Given the description of an element on the screen output the (x, y) to click on. 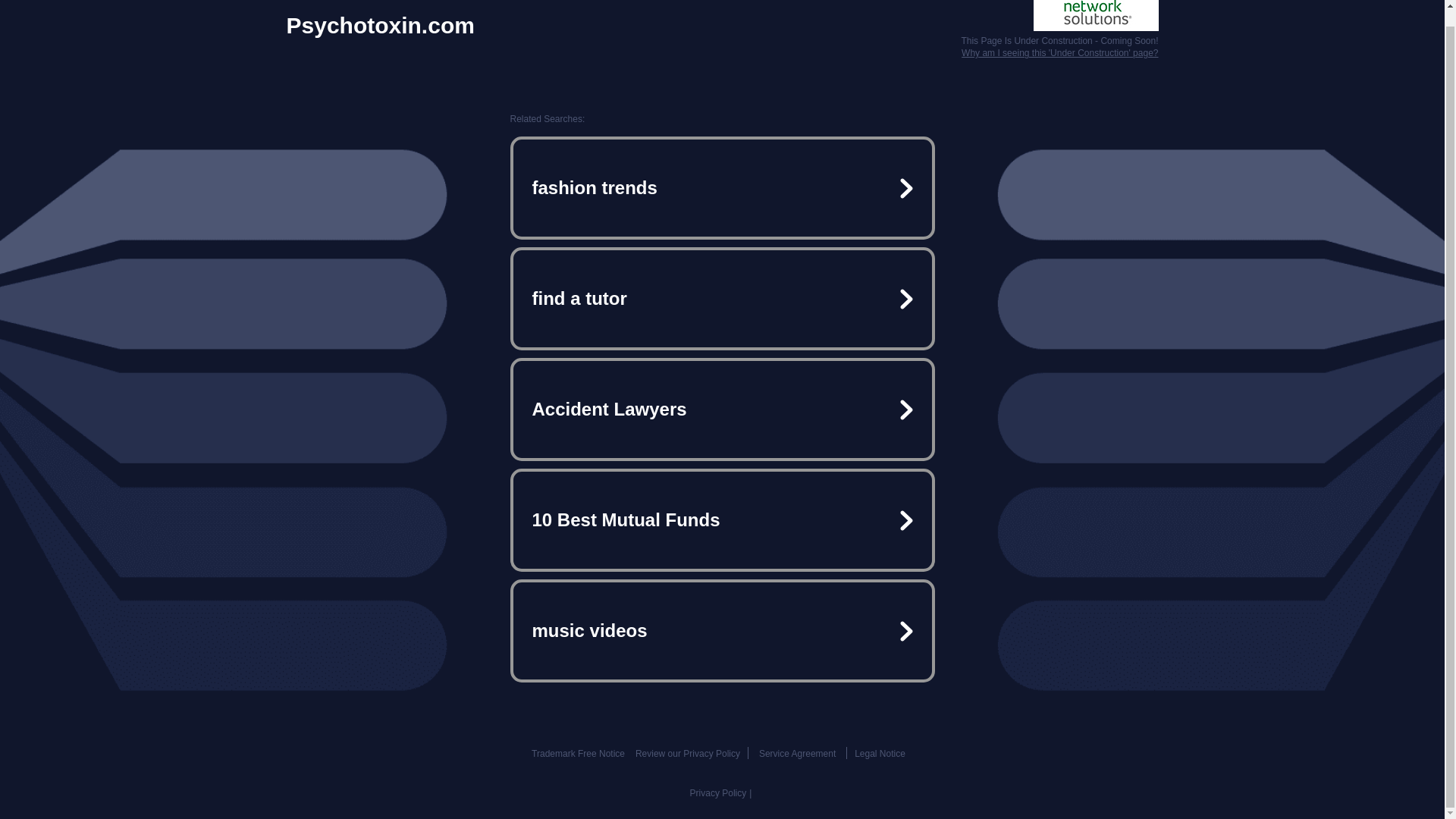
10 Best Mutual Funds (721, 519)
music videos (721, 630)
Legal Notice (879, 753)
Trademark Free Notice (577, 753)
fashion trends (721, 187)
Accident Lawyers (721, 409)
find a tutor (721, 298)
10 Best Mutual Funds (721, 519)
Why am I seeing this 'Under Construction' page? (1058, 52)
Accident Lawyers (721, 409)
Psychotoxin.com (380, 25)
Service Agreement (796, 753)
Privacy Policy (718, 792)
Review our Privacy Policy (686, 753)
fashion trends (721, 187)
